Given the description of an element on the screen output the (x, y) to click on. 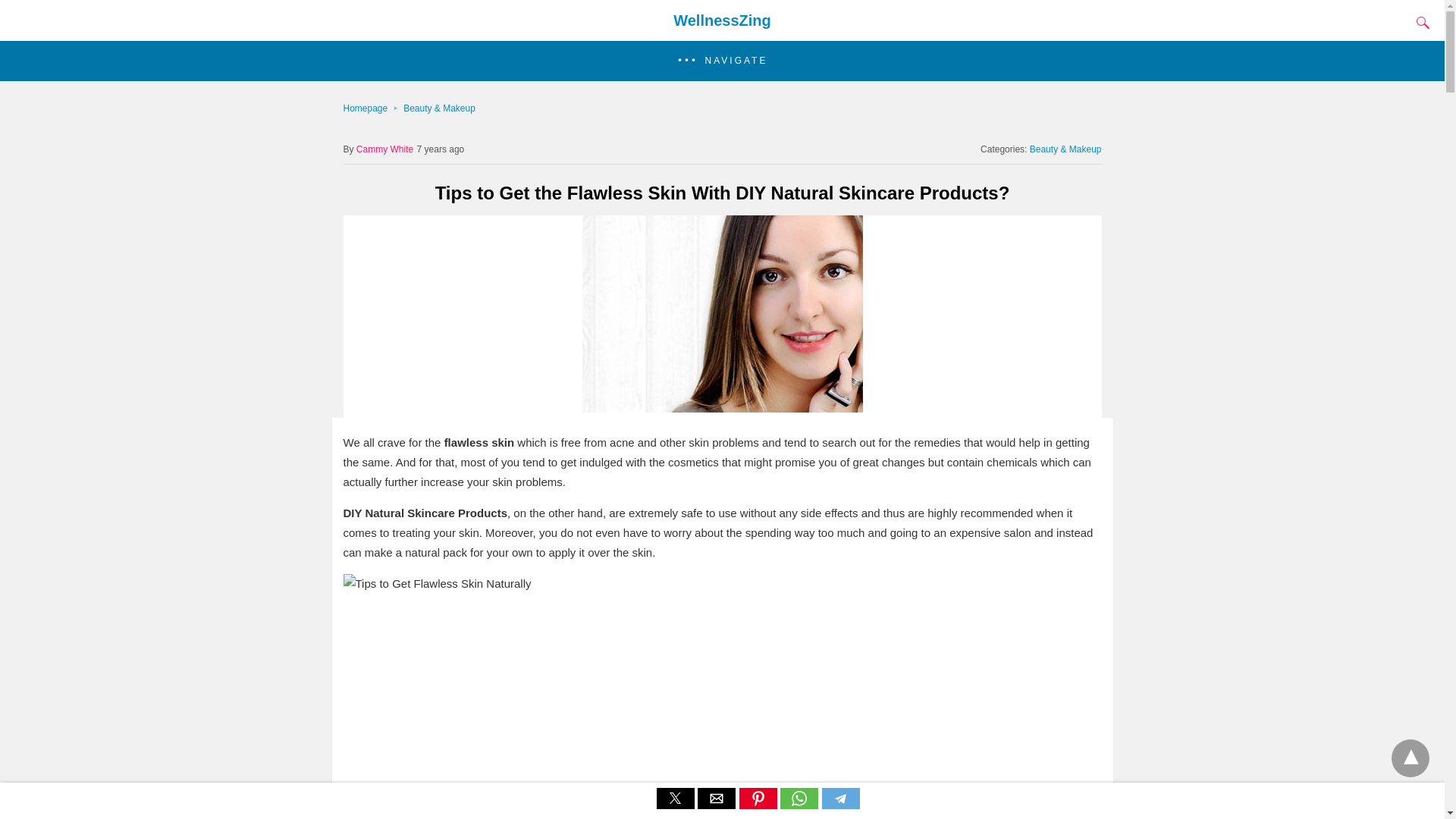
Homepage (372, 108)
Homepage (372, 108)
WellnessZing (722, 20)
